Given the description of an element on the screen output the (x, y) to click on. 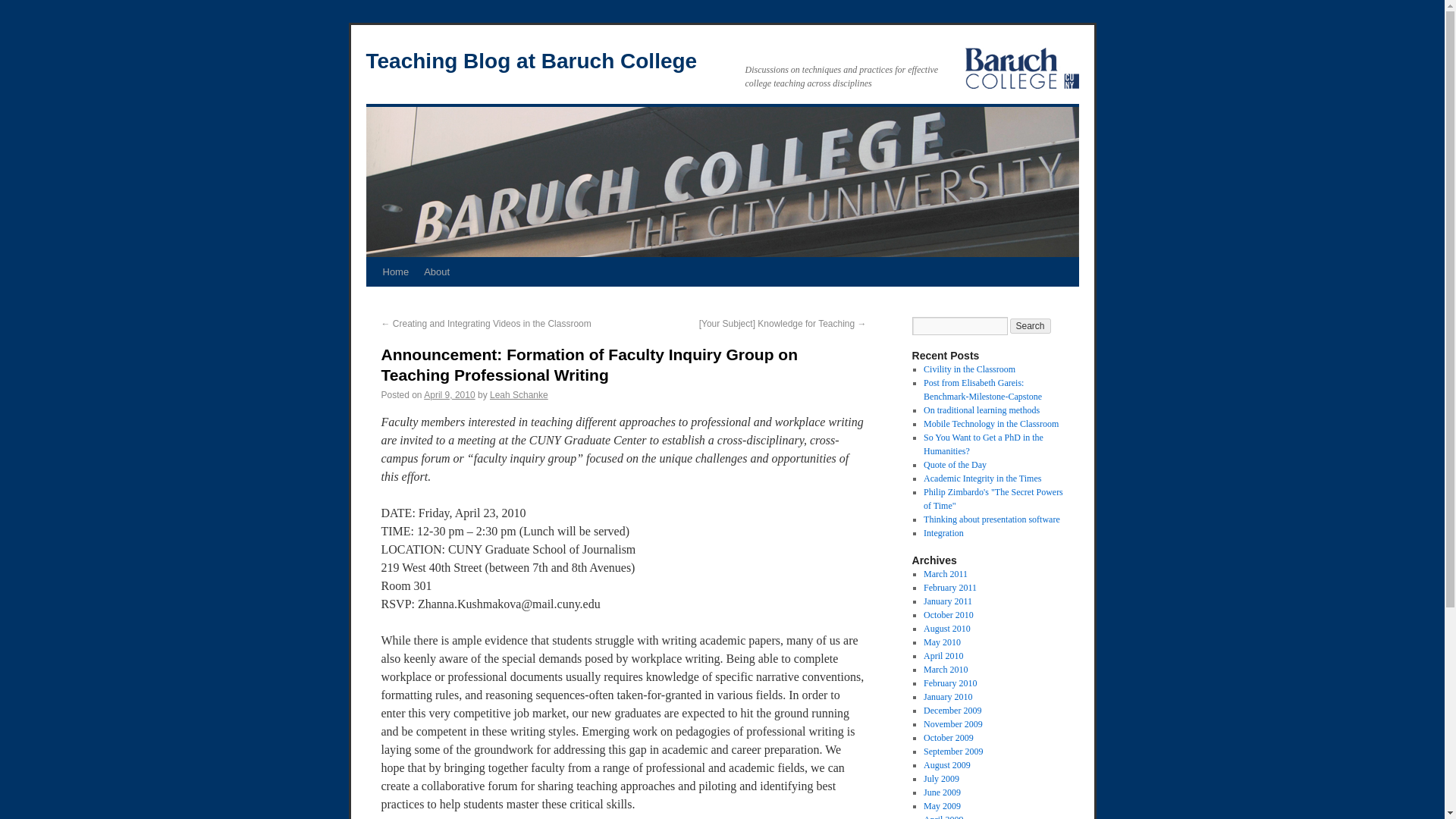
December 2009 (952, 710)
October 2010 (948, 614)
February 2011 (949, 587)
Home (395, 271)
April 9, 2010 (448, 394)
About (436, 271)
February 2010 (949, 683)
Mobile Technology in the Classroom (990, 423)
Search (1030, 325)
August 2010 (947, 628)
